Given the description of an element on the screen output the (x, y) to click on. 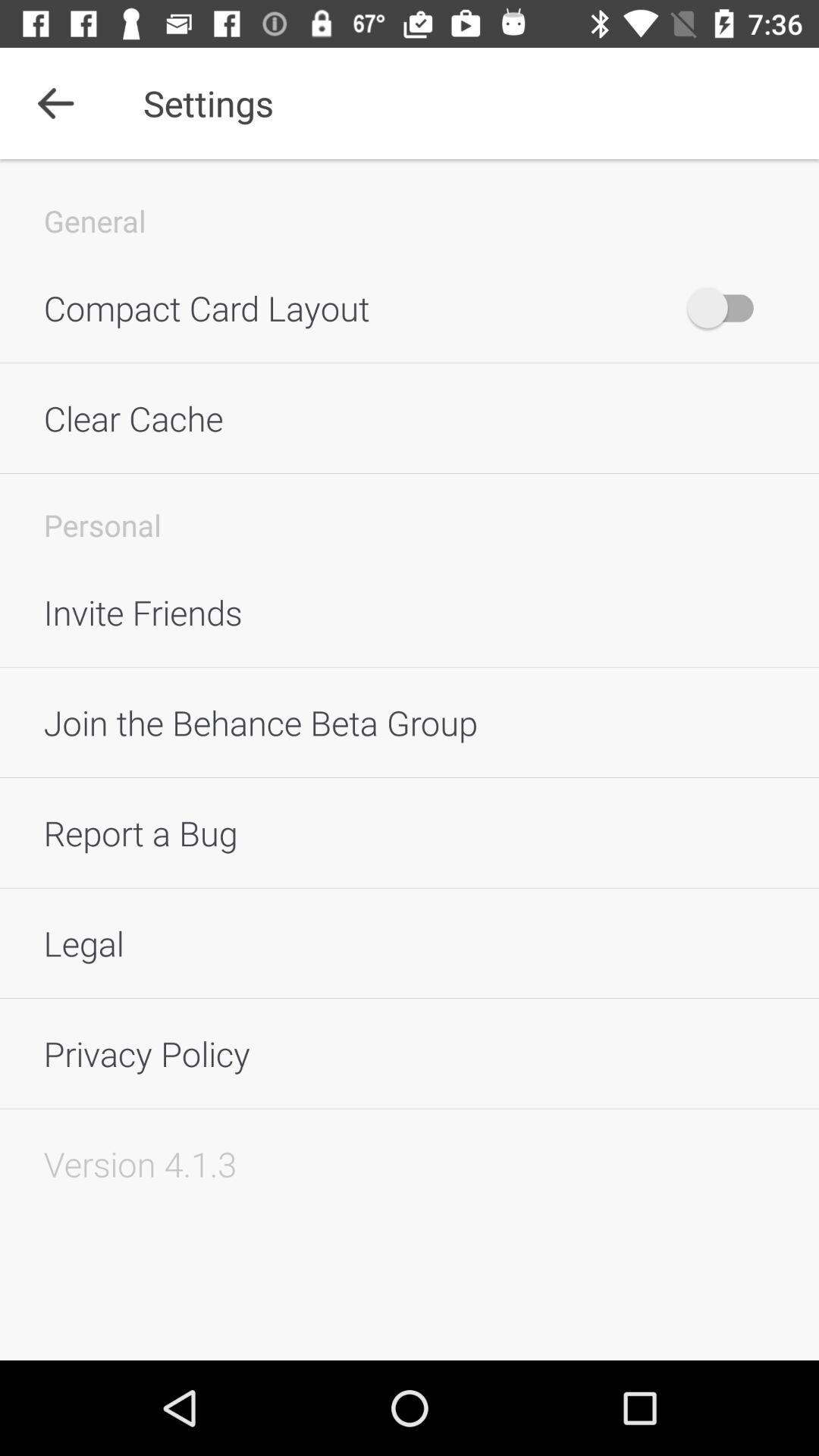
choose the item below the join the behance (409, 832)
